Given the description of an element on the screen output the (x, y) to click on. 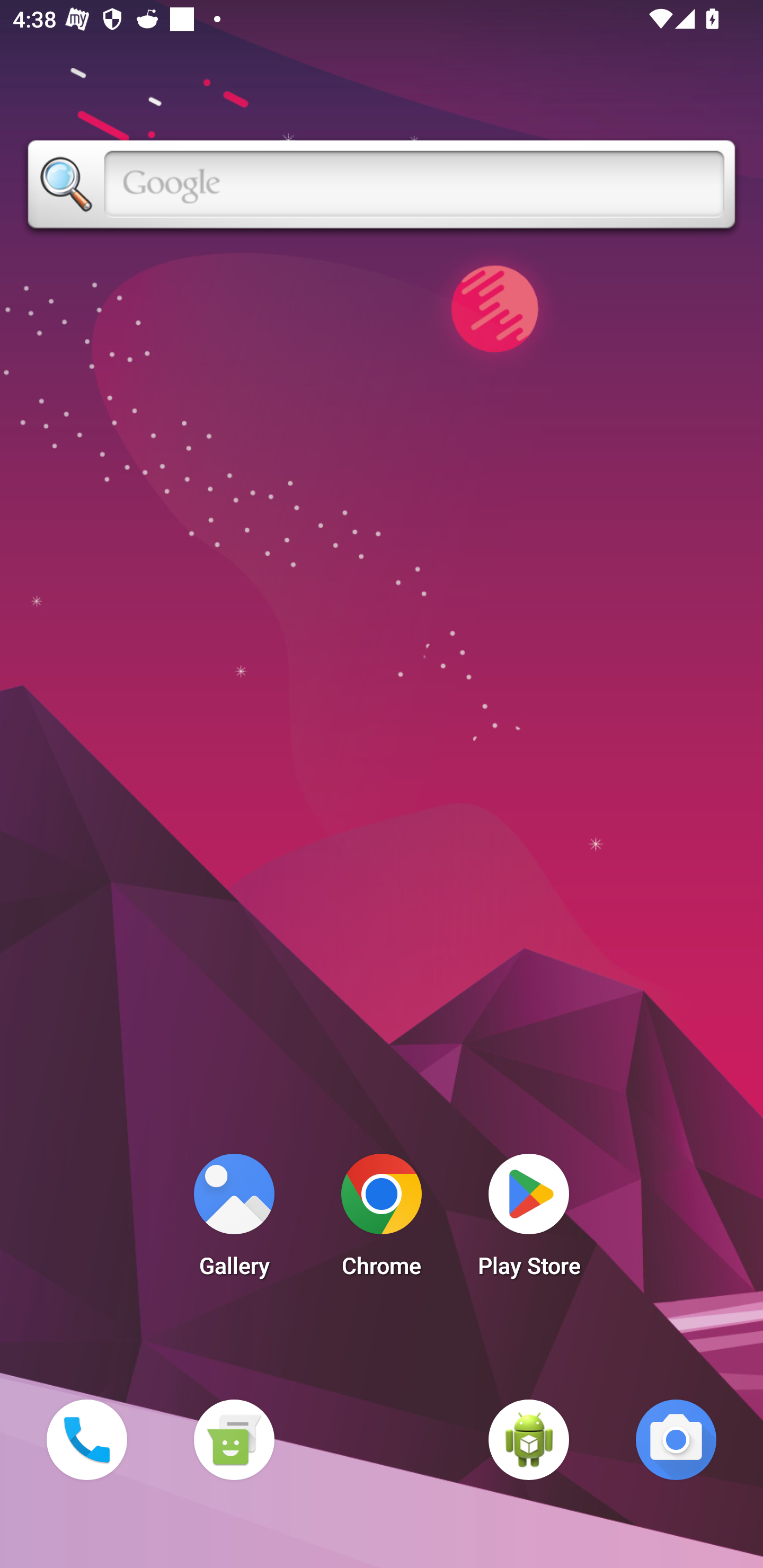
Gallery (233, 1220)
Chrome (381, 1220)
Play Store (528, 1220)
Phone (86, 1439)
Messaging (233, 1439)
WebView Browser Tester (528, 1439)
Camera (676, 1439)
